Given the description of an element on the screen output the (x, y) to click on. 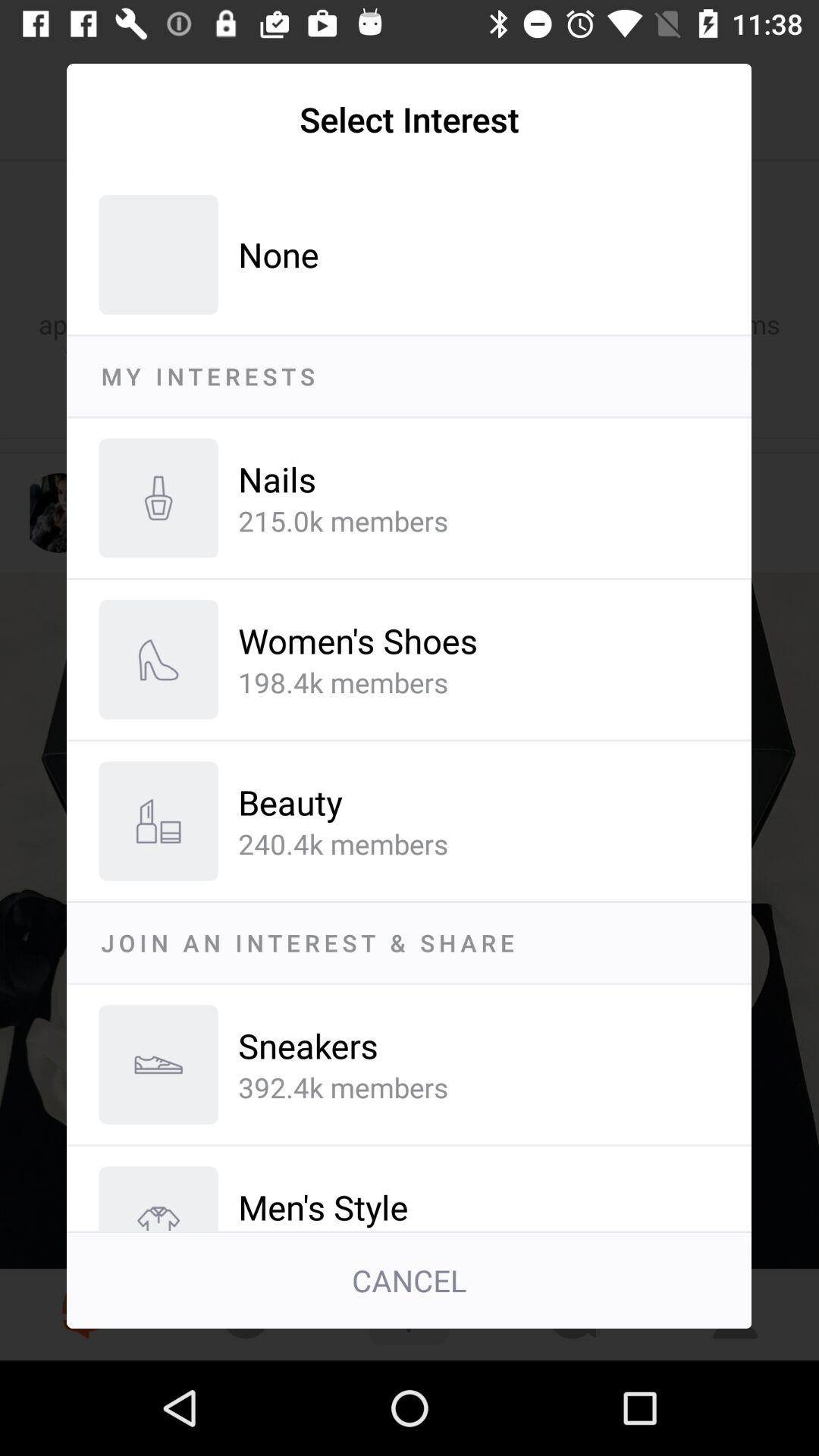
choose the cancel (409, 1280)
